Given the description of an element on the screen output the (x, y) to click on. 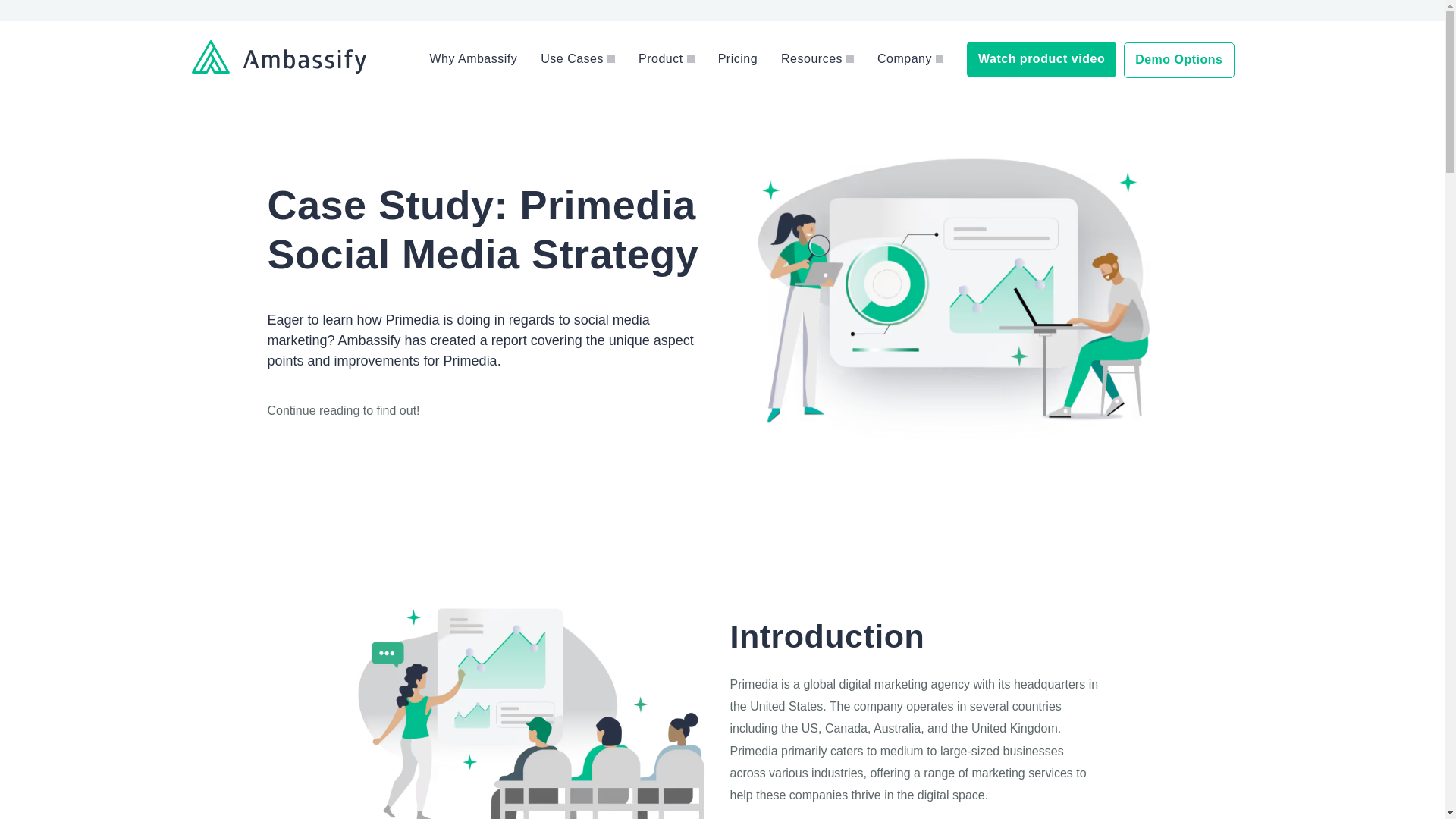
Pricing (737, 59)
Company (904, 59)
Why Ambassify (472, 59)
Product (660, 59)
Resources (811, 59)
Use Cases (572, 59)
